Given the description of an element on the screen output the (x, y) to click on. 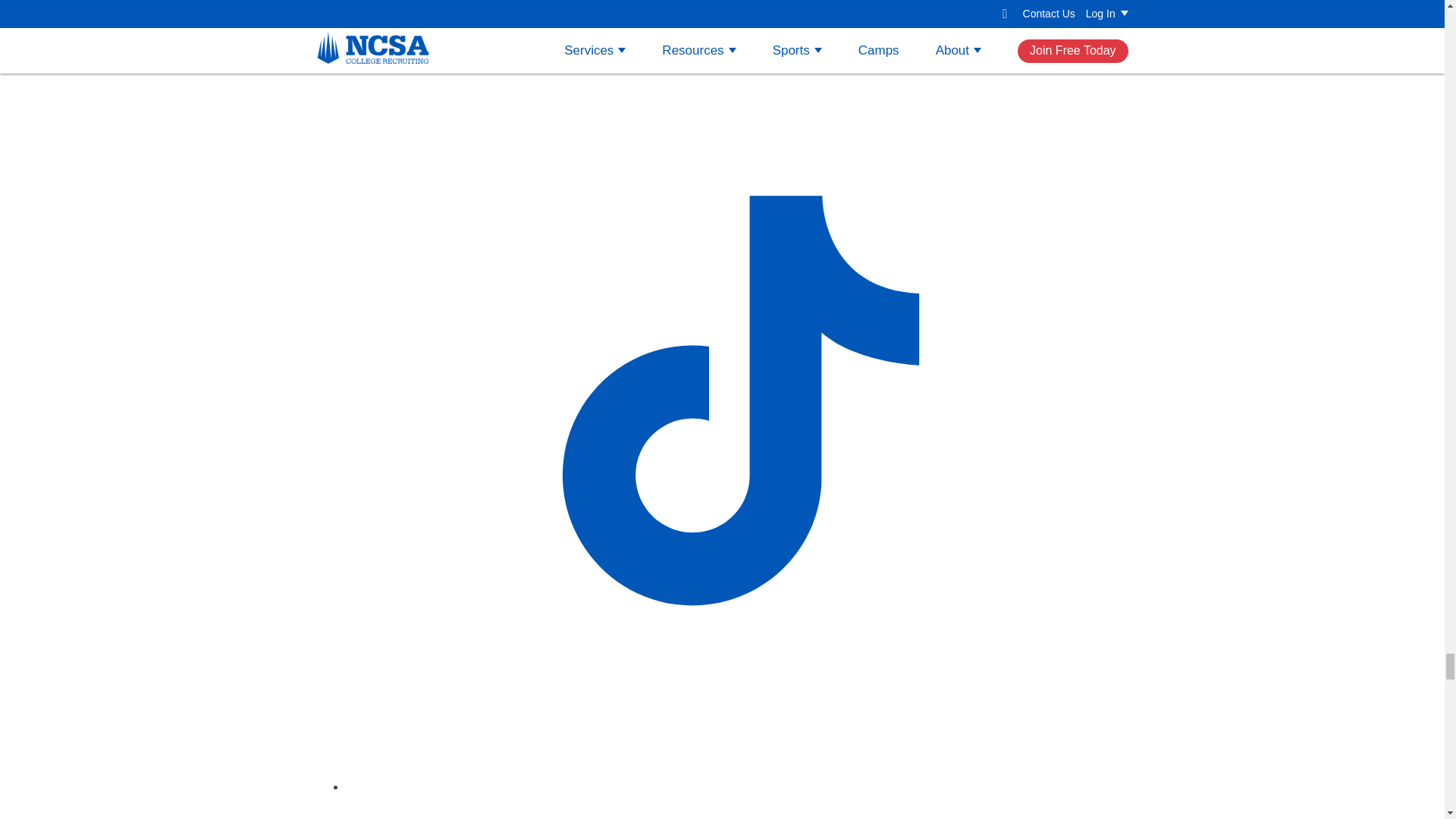
X link (737, 807)
